Given the description of an element on the screen output the (x, y) to click on. 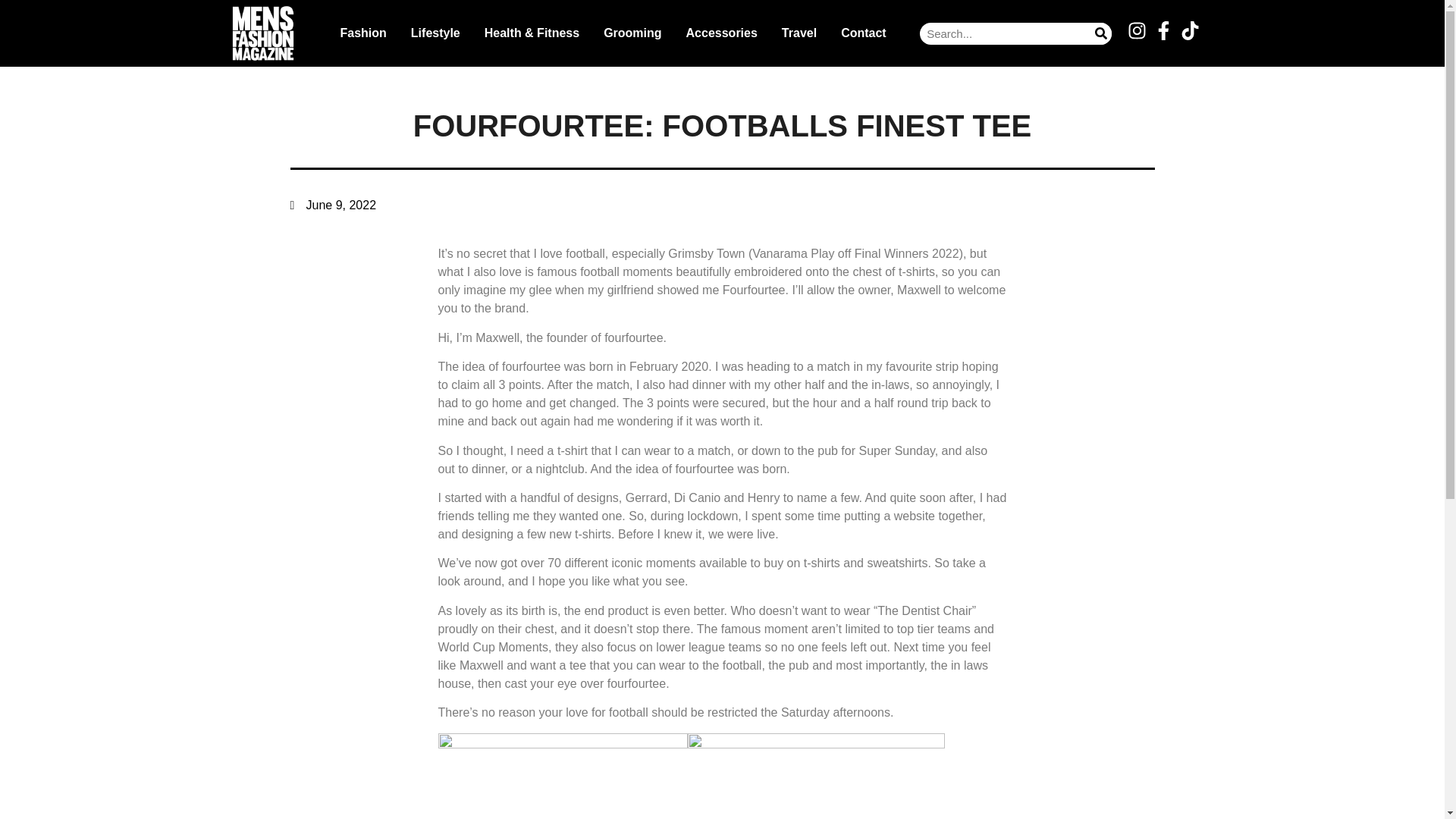
Travel (799, 33)
Grooming (631, 33)
Contact (863, 33)
Accessories (722, 33)
Fashion (362, 33)
June 9, 2022 (332, 205)
Lifestyle (434, 33)
